Given the description of an element on the screen output the (x, y) to click on. 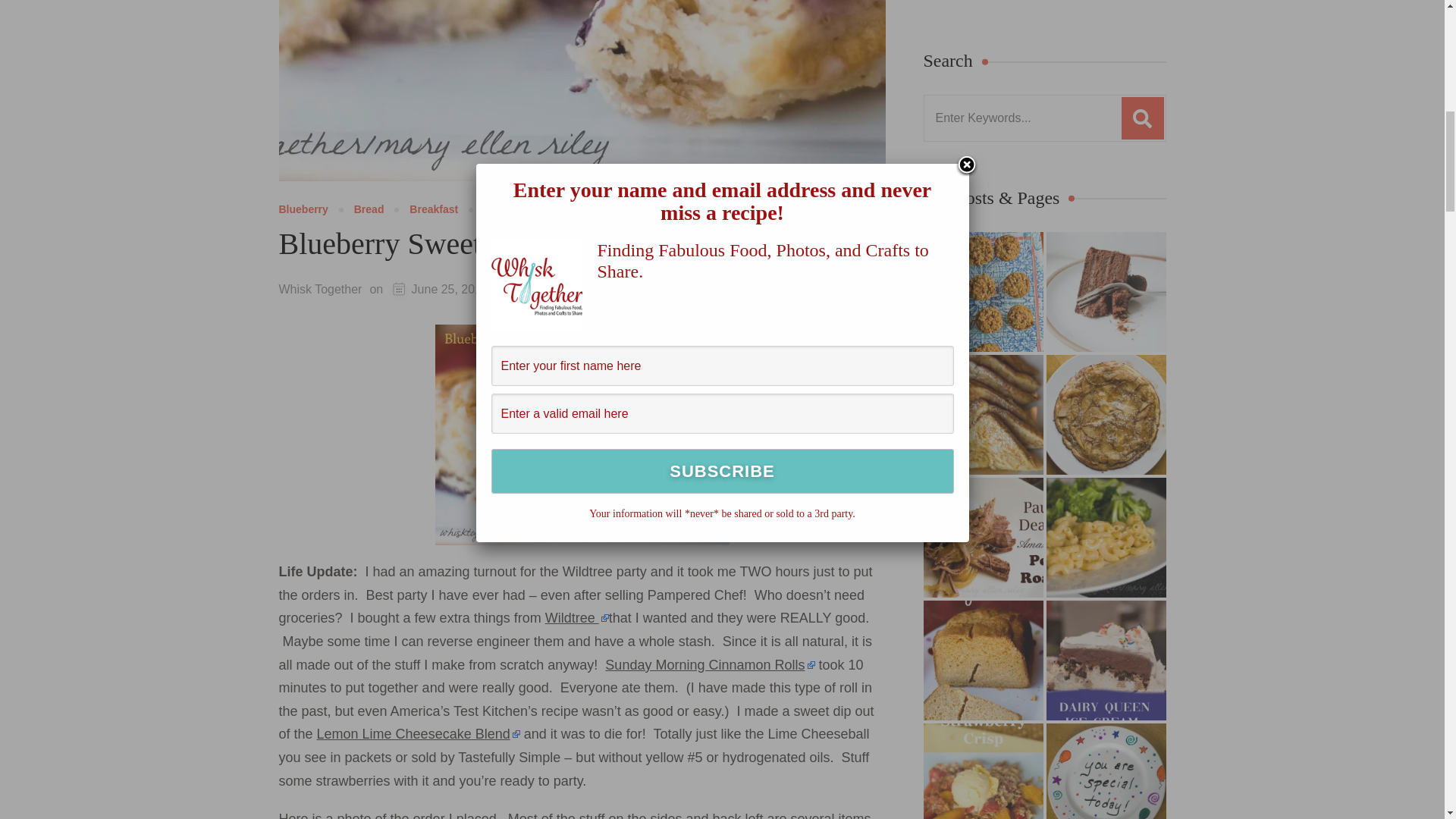
Bread (368, 209)
Lemon (500, 209)
Search (1141, 117)
June 25, 2013 (449, 289)
Whisk Together (320, 288)
Blueberry (304, 209)
Breakfast (433, 209)
Search (1141, 117)
